Given the description of an element on the screen output the (x, y) to click on. 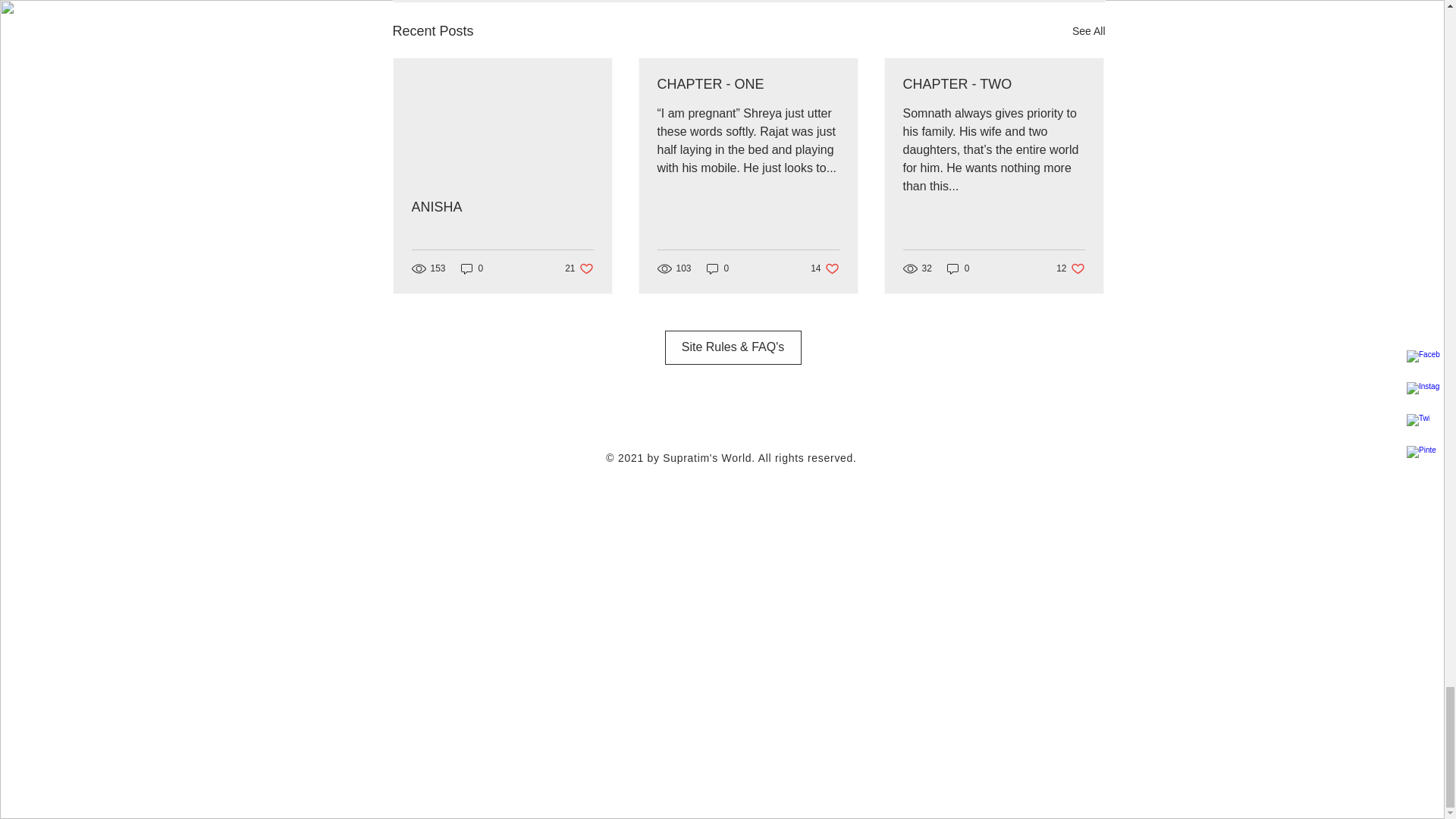
0 (824, 268)
0 (472, 268)
CHAPTER - TWO (717, 268)
0 (993, 84)
ANISHA (578, 268)
See All (957, 268)
CHAPTER - ONE (501, 207)
